Given the description of an element on the screen output the (x, y) to click on. 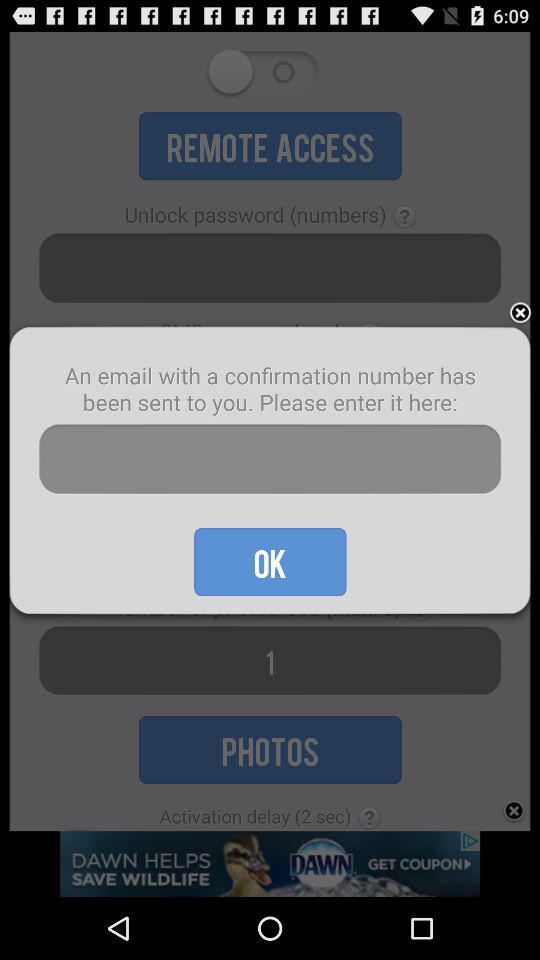
close window (520, 313)
